Given the description of an element on the screen output the (x, y) to click on. 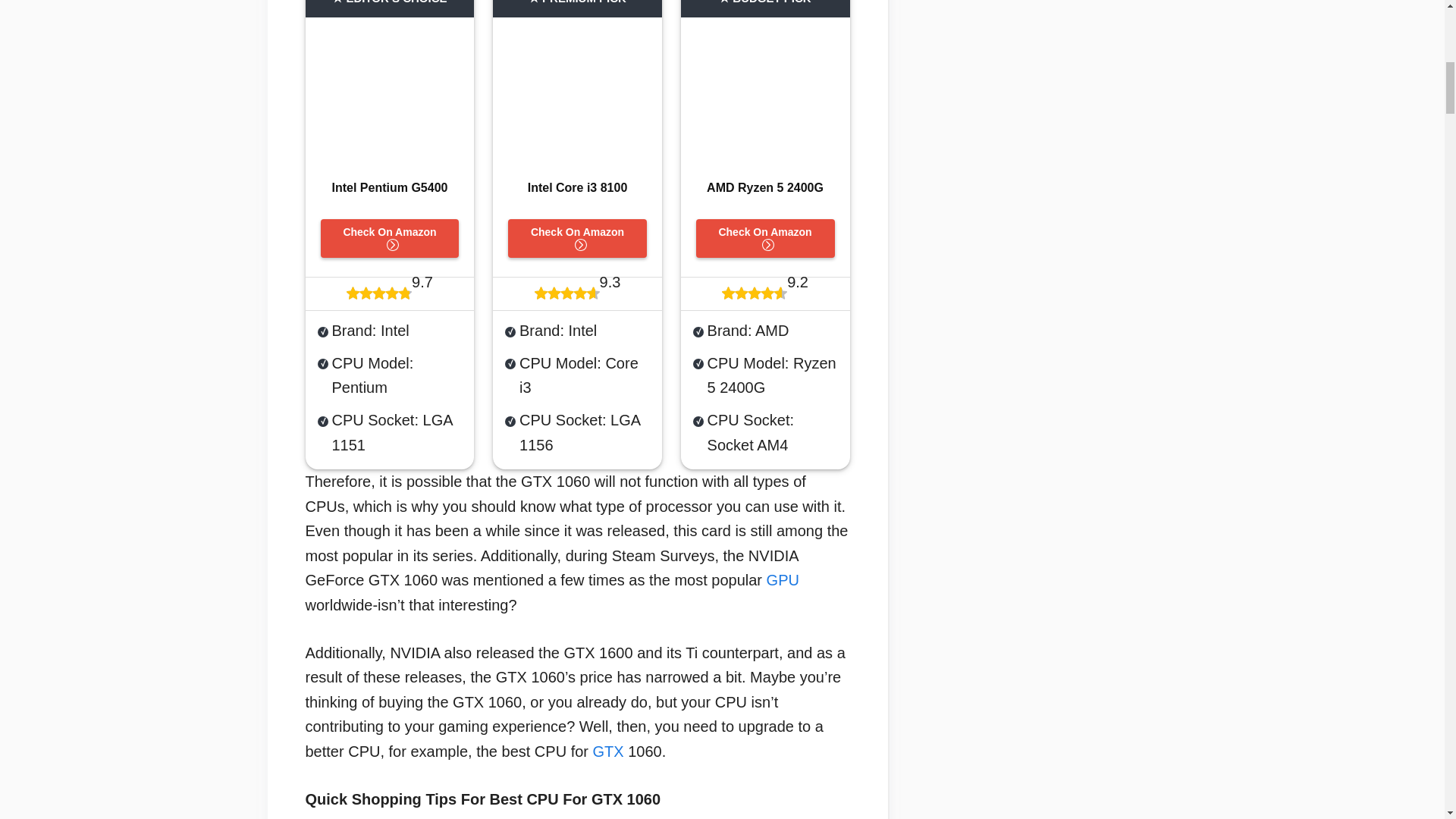
Check On Amazon (764, 238)
Check On Amazon (577, 238)
Check On Amazon (389, 238)
GPU (783, 579)
GTX (608, 751)
